Given the description of an element on the screen output the (x, y) to click on. 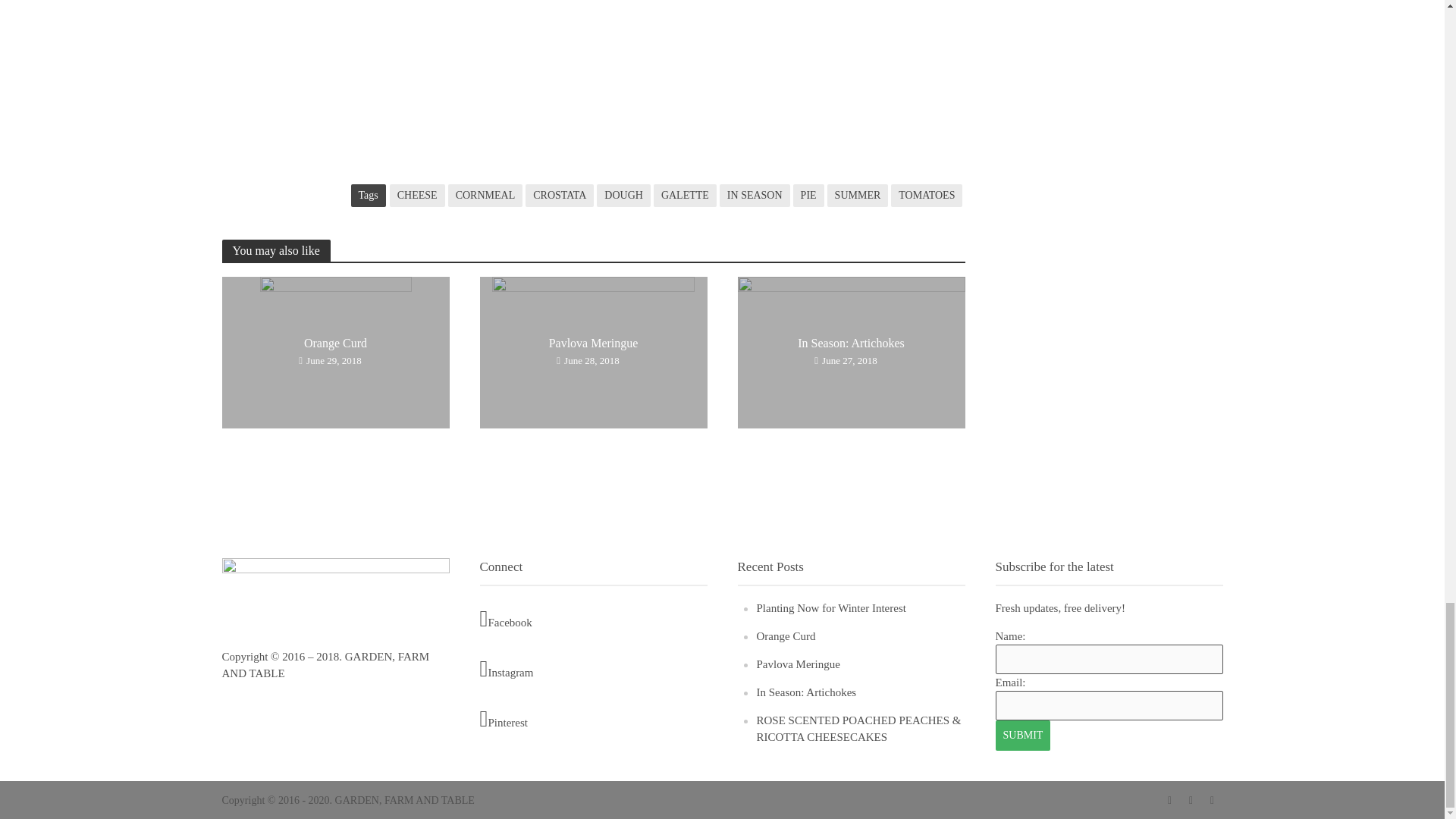
Visit Garden, Farm and Table on Pinterest (592, 719)
In Season: Artichokes (849, 350)
Name (1108, 659)
Orange Curd (334, 350)
Submit (1021, 735)
Visit Garden, Farm and Table on Facebook (592, 617)
Visit Garden, Farm and Table on Instagram (592, 668)
Email (1108, 705)
Pavlova Meringue (593, 350)
